Given the description of an element on the screen output the (x, y) to click on. 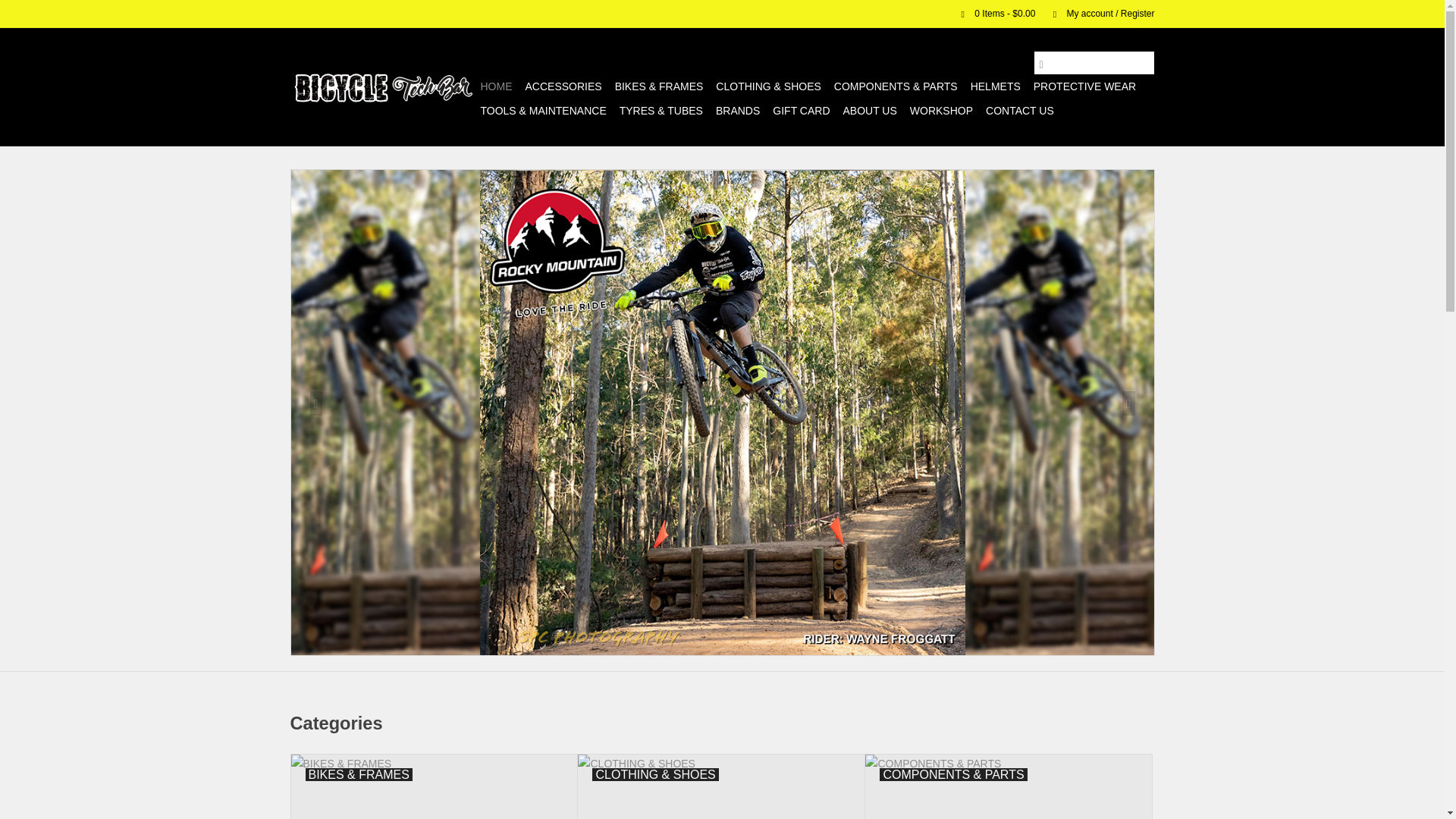
HOME (496, 86)
Cart (992, 13)
ACCESSORIES (562, 86)
ACCESSORIES (562, 86)
Bicycle Tech Bar :: Central Coast NSW Australia (382, 86)
My account (1096, 13)
